Given the description of an element on the screen output the (x, y) to click on. 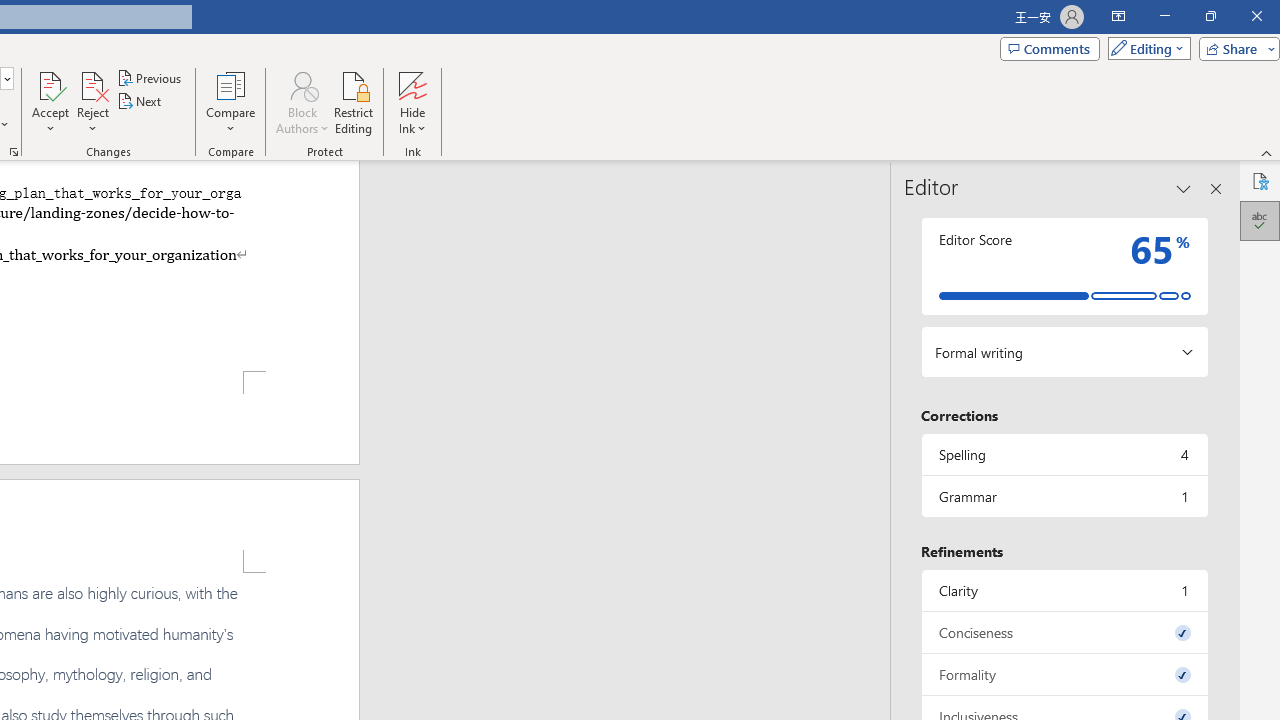
Editor (1260, 220)
Spelling, 4 issues. Press space or enter to review items. (1064, 454)
Next (140, 101)
Task Pane Options (1183, 188)
Editor Score 65% (1064, 266)
Ribbon Display Options (1118, 16)
Hide Ink (412, 102)
Restrict Editing (353, 102)
Accept (50, 102)
Clarity, 1 issue. Press space or enter to review items. (1064, 590)
Collapse the Ribbon (1267, 152)
Block Authors (302, 84)
Restore Down (1210, 16)
